Given the description of an element on the screen output the (x, y) to click on. 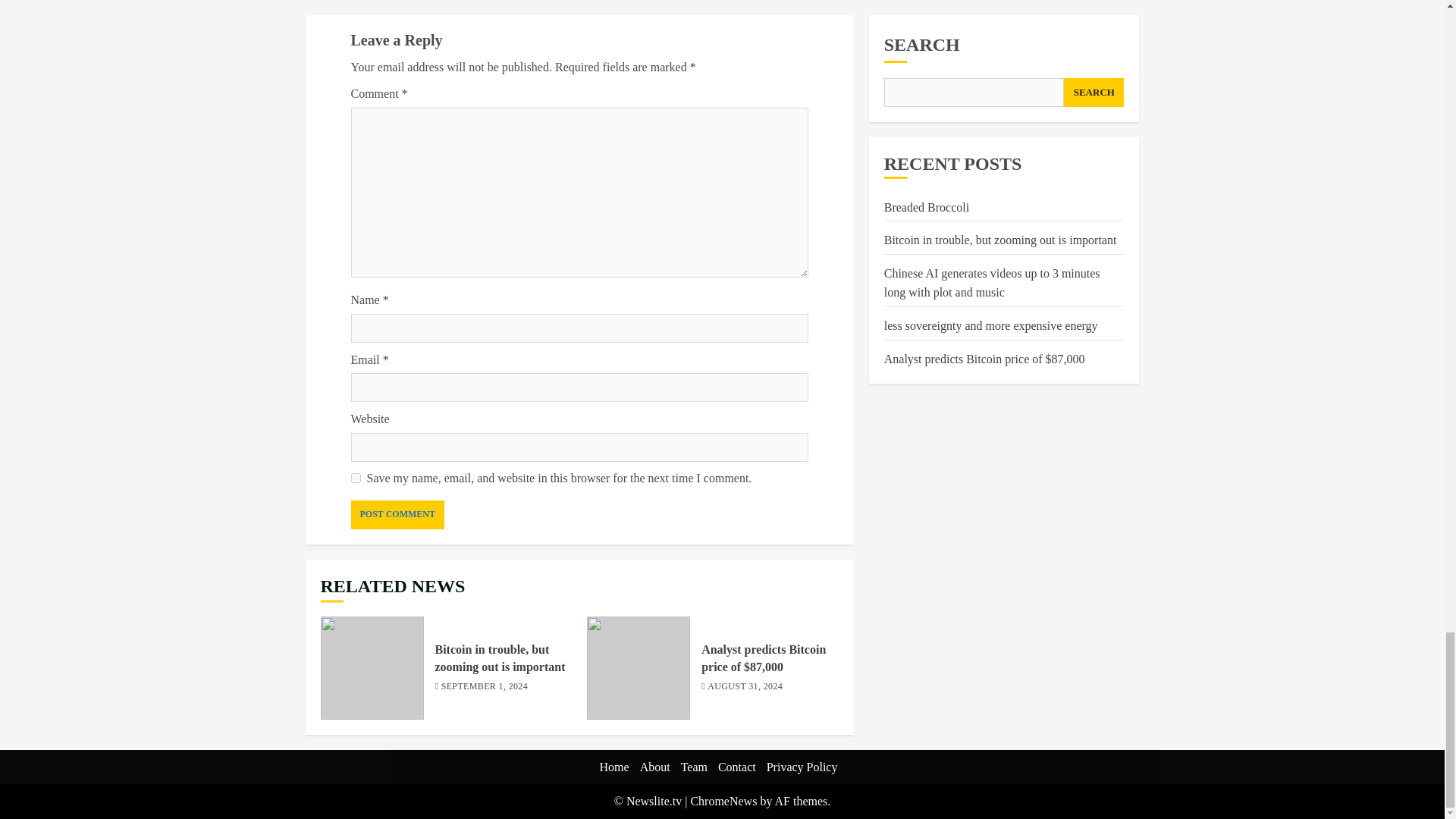
Bitcoin in trouble, but zooming out is important (371, 667)
yes (354, 478)
SEPTEMBER 1, 2024 (484, 686)
Contact (736, 766)
Post Comment (397, 514)
Home (613, 766)
Privacy Policy (802, 766)
AUGUST 31, 2024 (745, 686)
Post Comment (397, 514)
ChromeNews (723, 800)
